Given the description of an element on the screen output the (x, y) to click on. 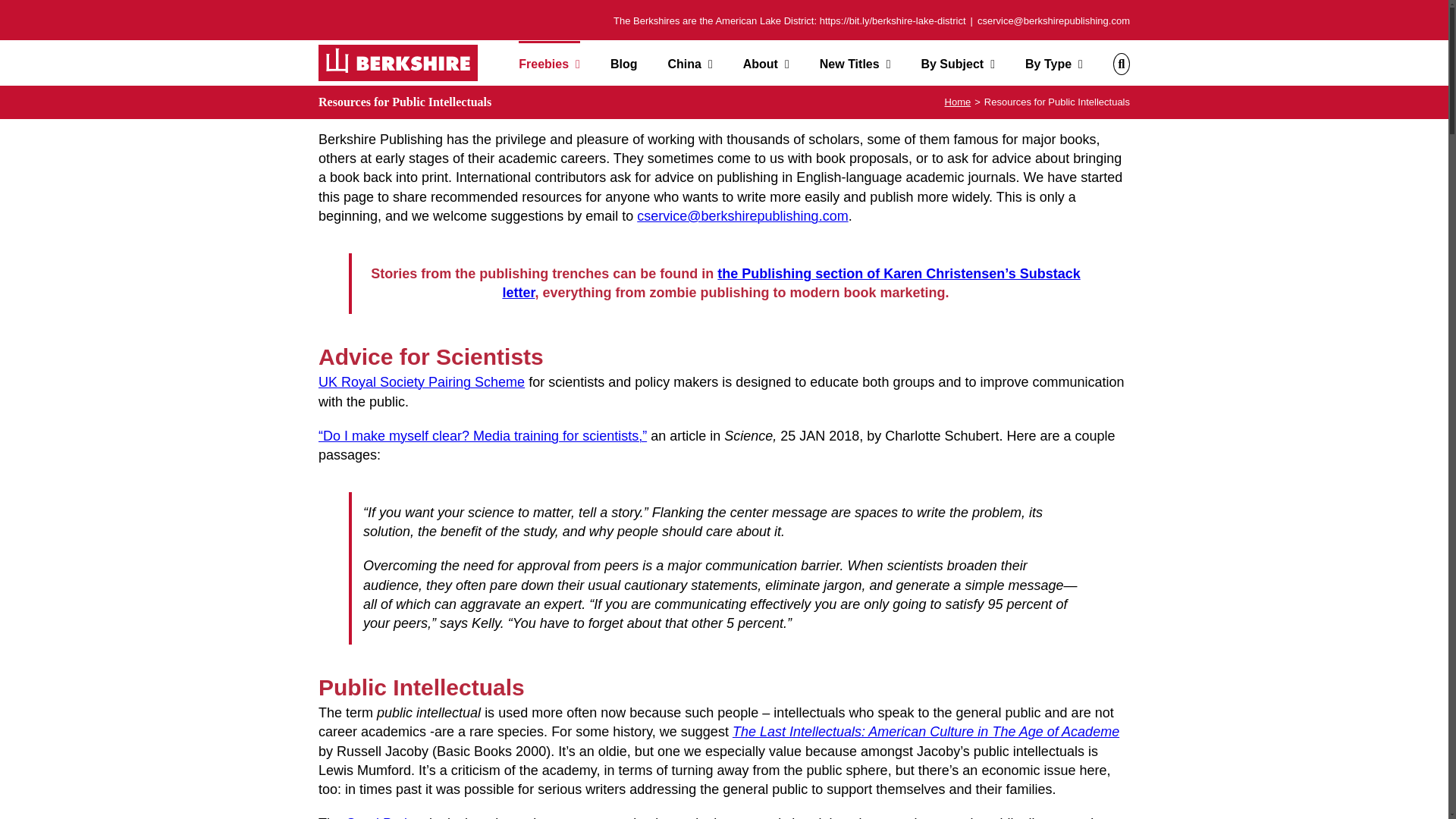
Freebies (548, 62)
By Subject (957, 62)
About (765, 62)
New Titles (855, 62)
China (688, 62)
